Given the description of an element on the screen output the (x, y) to click on. 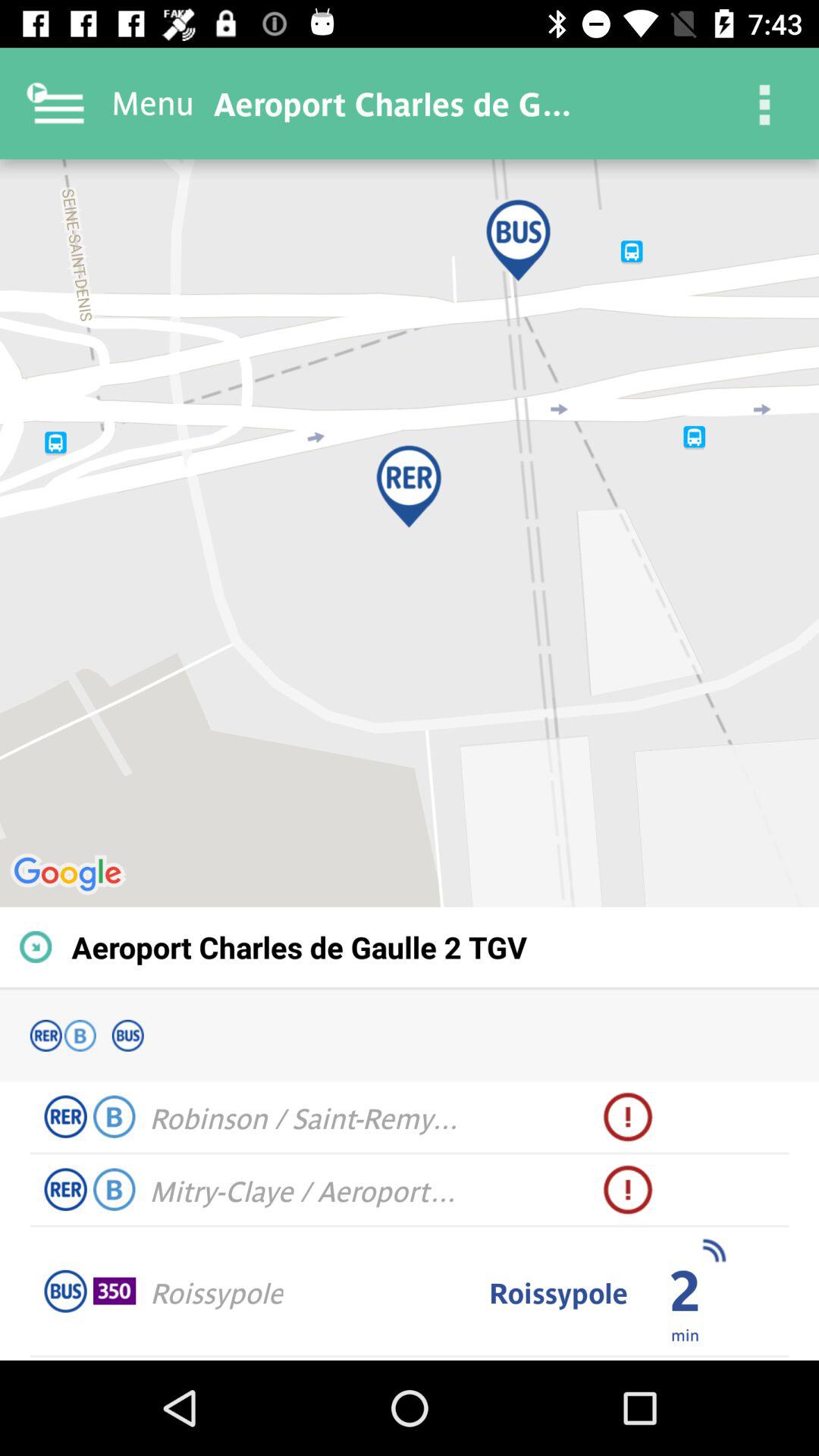
open item next to roissypole icon (114, 1290)
